Given the description of an element on the screen output the (x, y) to click on. 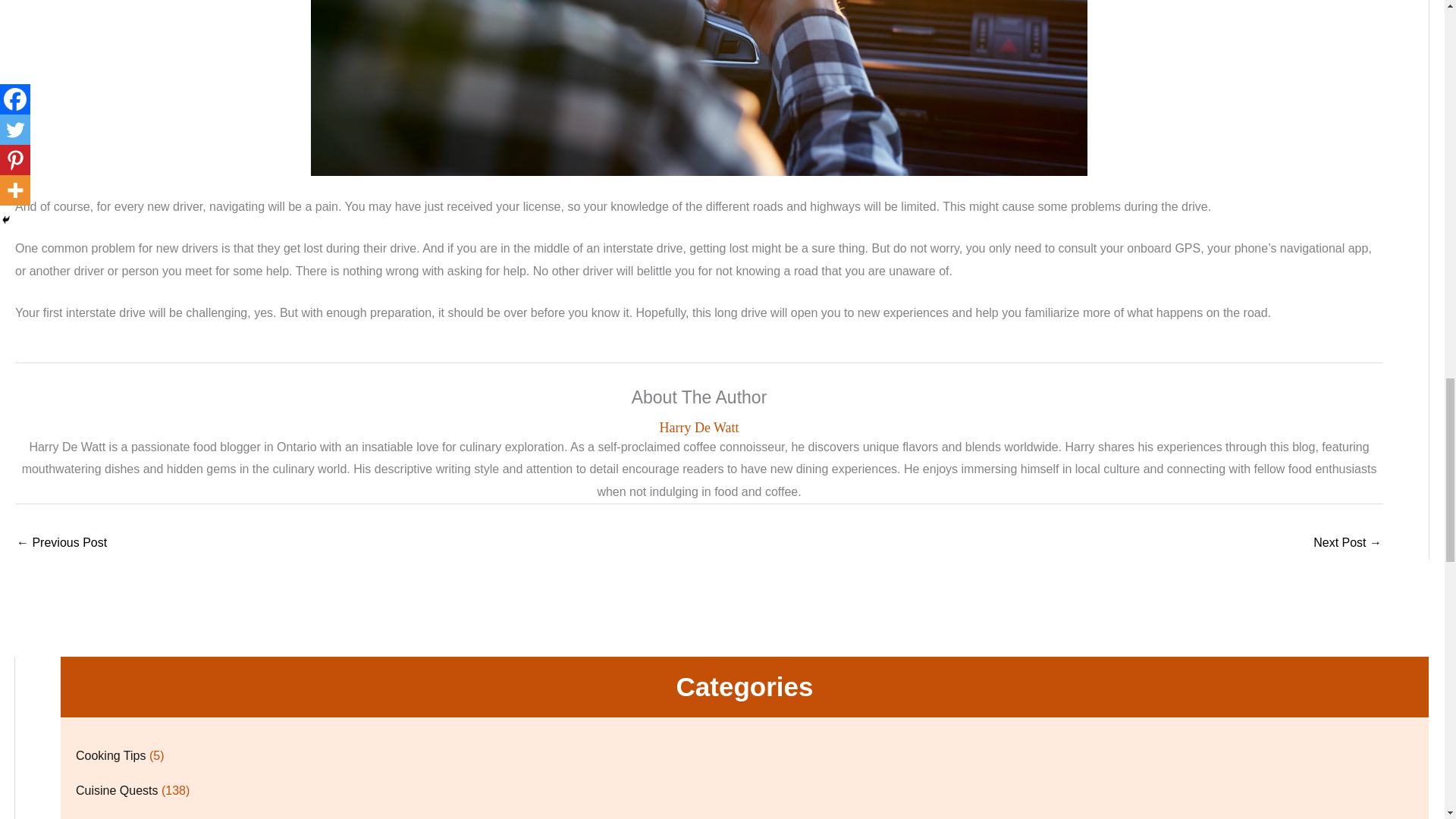
Cuisine Quests (116, 789)
Cooking Tips (111, 755)
Harry De Watt (698, 427)
